Given the description of an element on the screen output the (x, y) to click on. 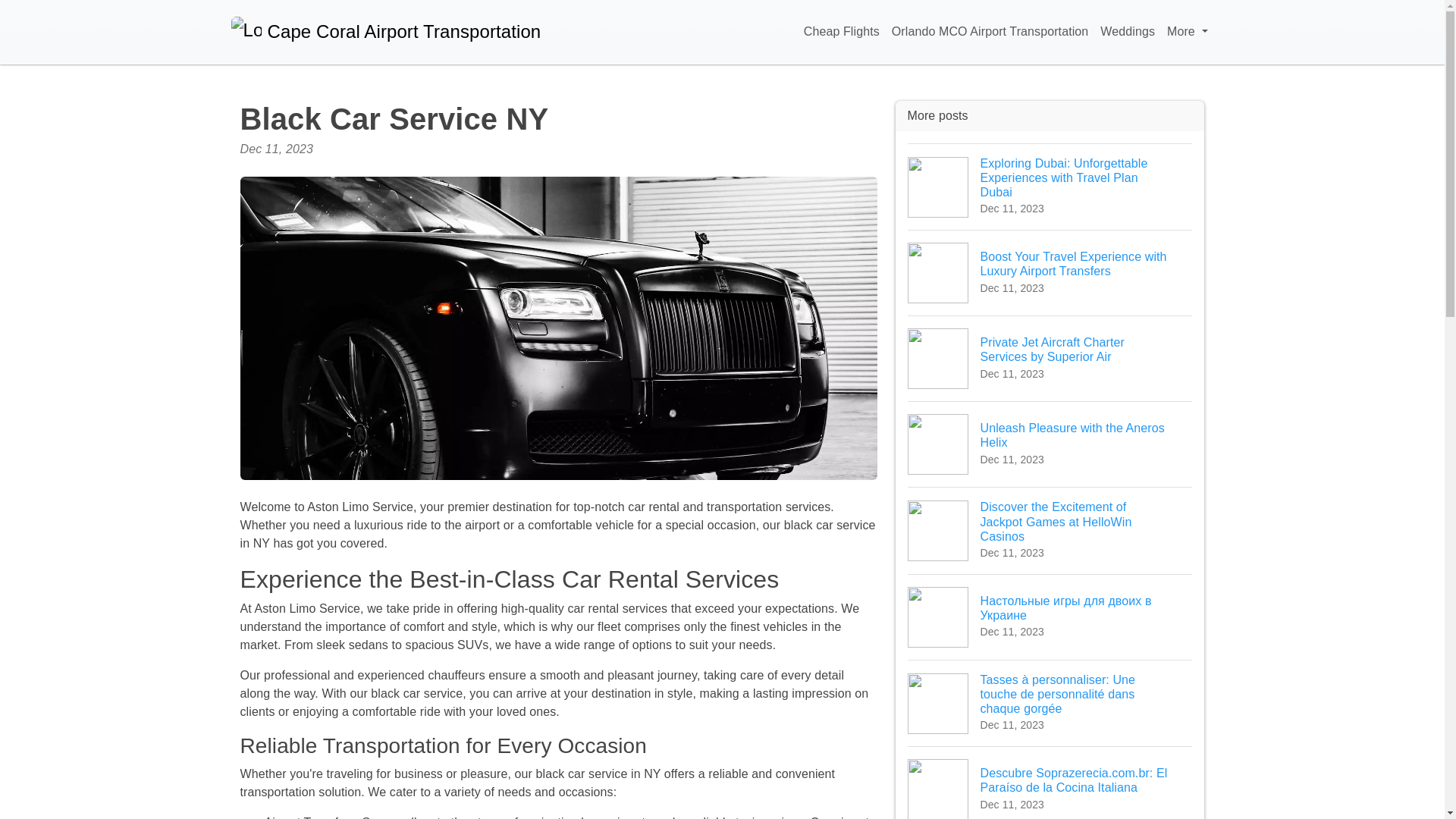
Cheap Flights (841, 32)
More (1186, 32)
Orlando MCO Airport Transportation (989, 32)
Weddings (1127, 32)
Cape Coral Airport Transportation (1049, 443)
